Given the description of an element on the screen output the (x, y) to click on. 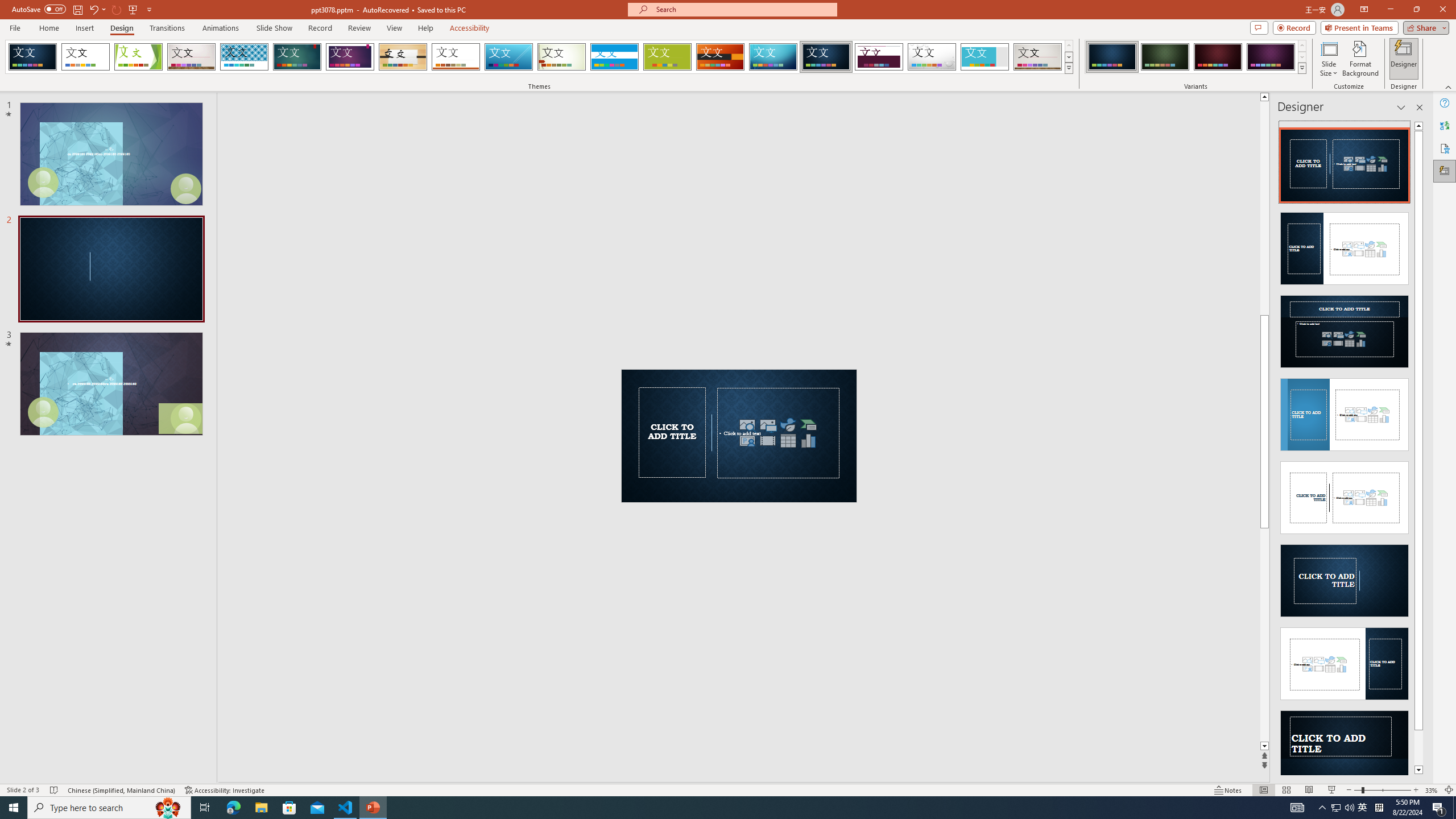
Slice (508, 56)
Ion (296, 56)
AutomationID: SlideThemesGallery (539, 56)
Banded (614, 56)
